Given the description of an element on the screen output the (x, y) to click on. 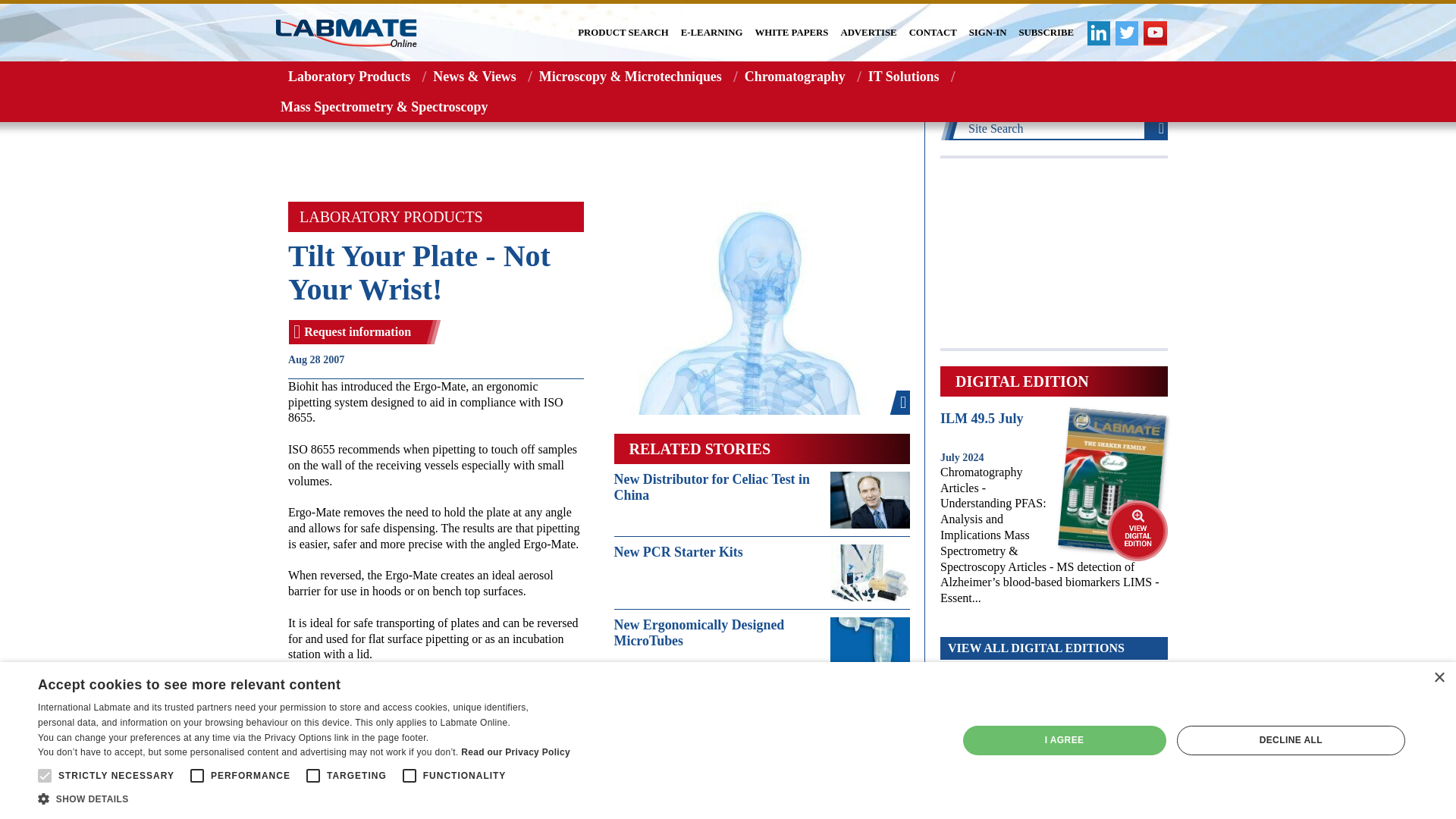
3rd party ad content (1053, 253)
WHITE PAPERS (791, 32)
3rd party ad content (599, 151)
ADVERTISE (868, 32)
E-LEARNING (711, 32)
CONTACT (932, 32)
SIGN-IN (988, 32)
SUBSCRIBE (1045, 32)
PRODUCT SEARCH (623, 32)
